Given the description of an element on the screen output the (x, y) to click on. 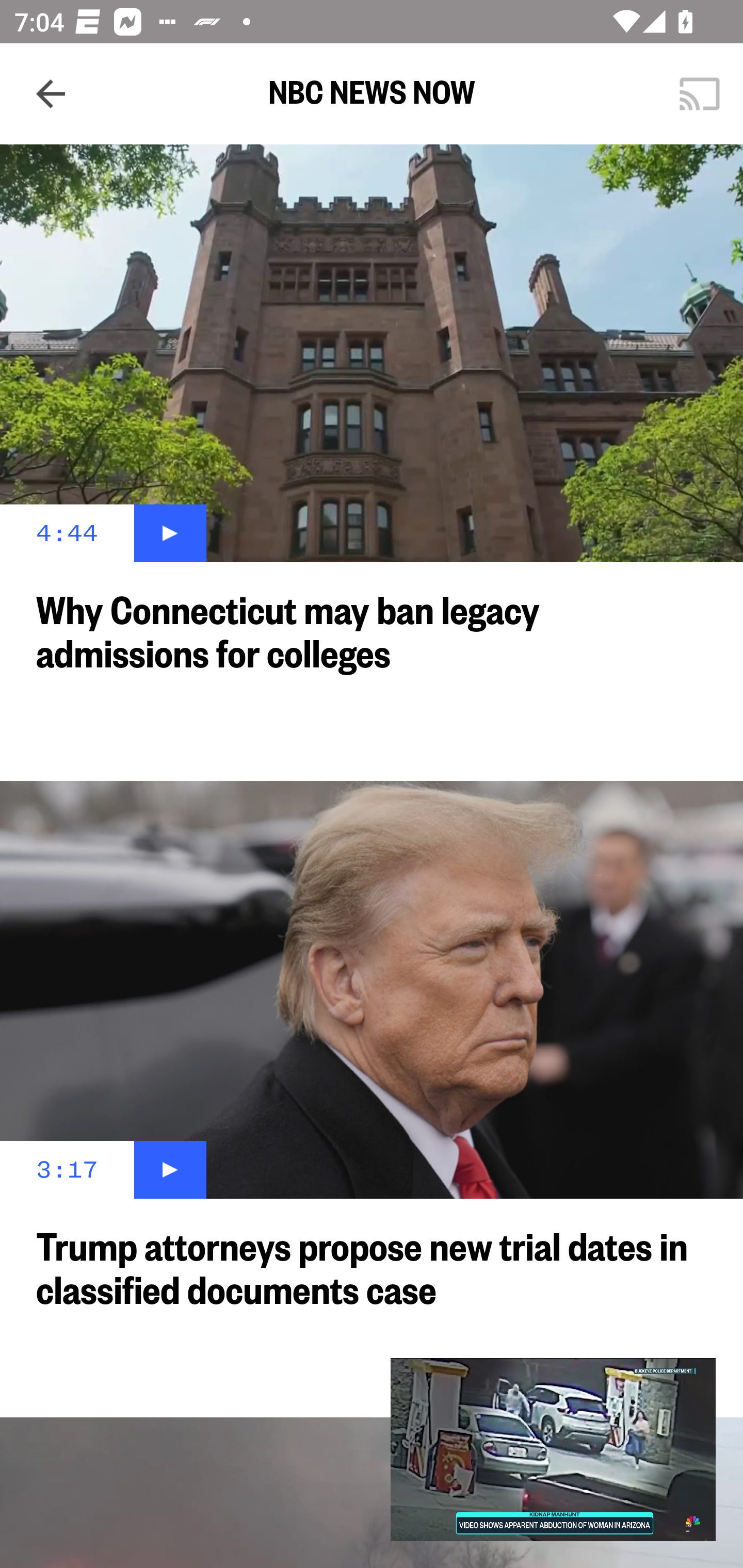
Navigate up (50, 93)
Cast. Disconnected (699, 93)
